Given the description of an element on the screen output the (x, y) to click on. 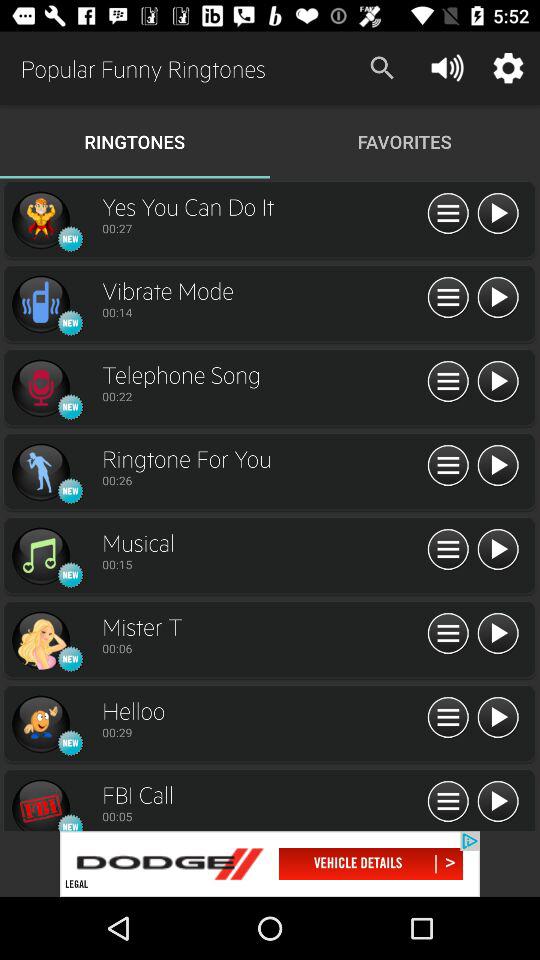
play musical ringtone (40, 556)
